Given the description of an element on the screen output the (x, y) to click on. 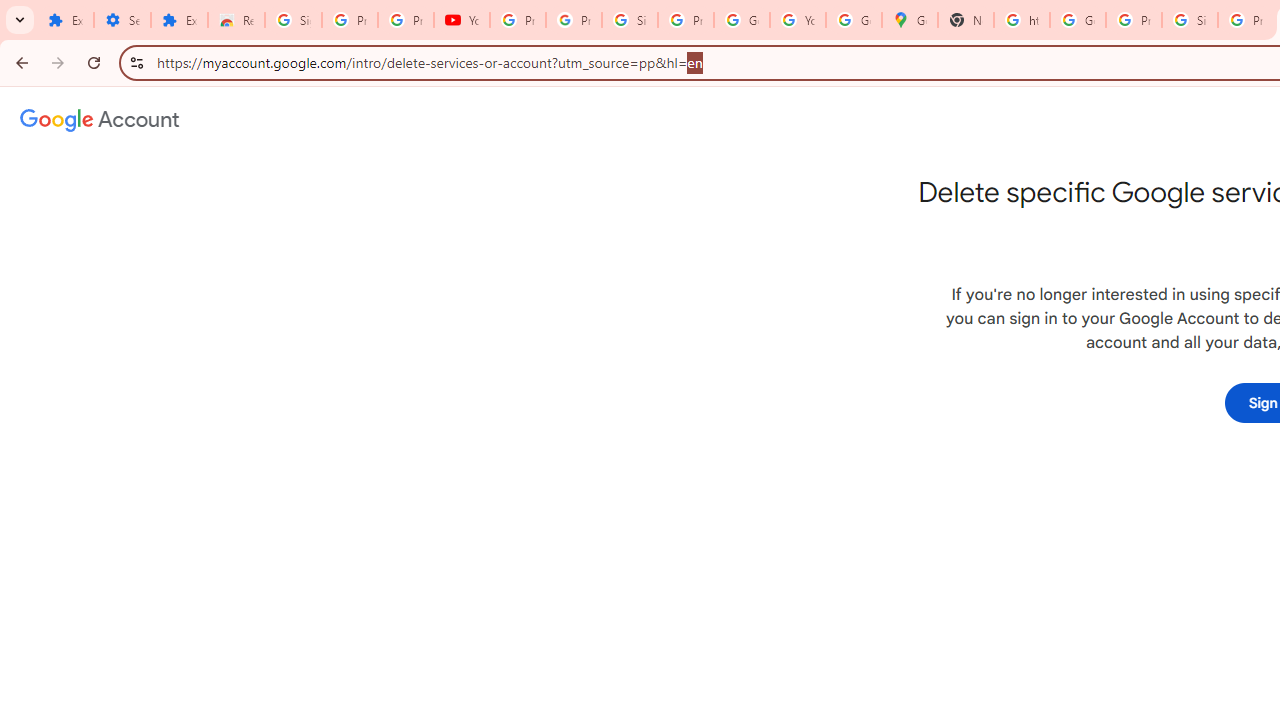
Google Account settings (100, 120)
YouTube (461, 20)
https://scholar.google.com/ (1021, 20)
Extensions (65, 20)
Reviews: Helix Fruit Jump Arcade Game (235, 20)
Google Maps (909, 20)
